Given the description of an element on the screen output the (x, y) to click on. 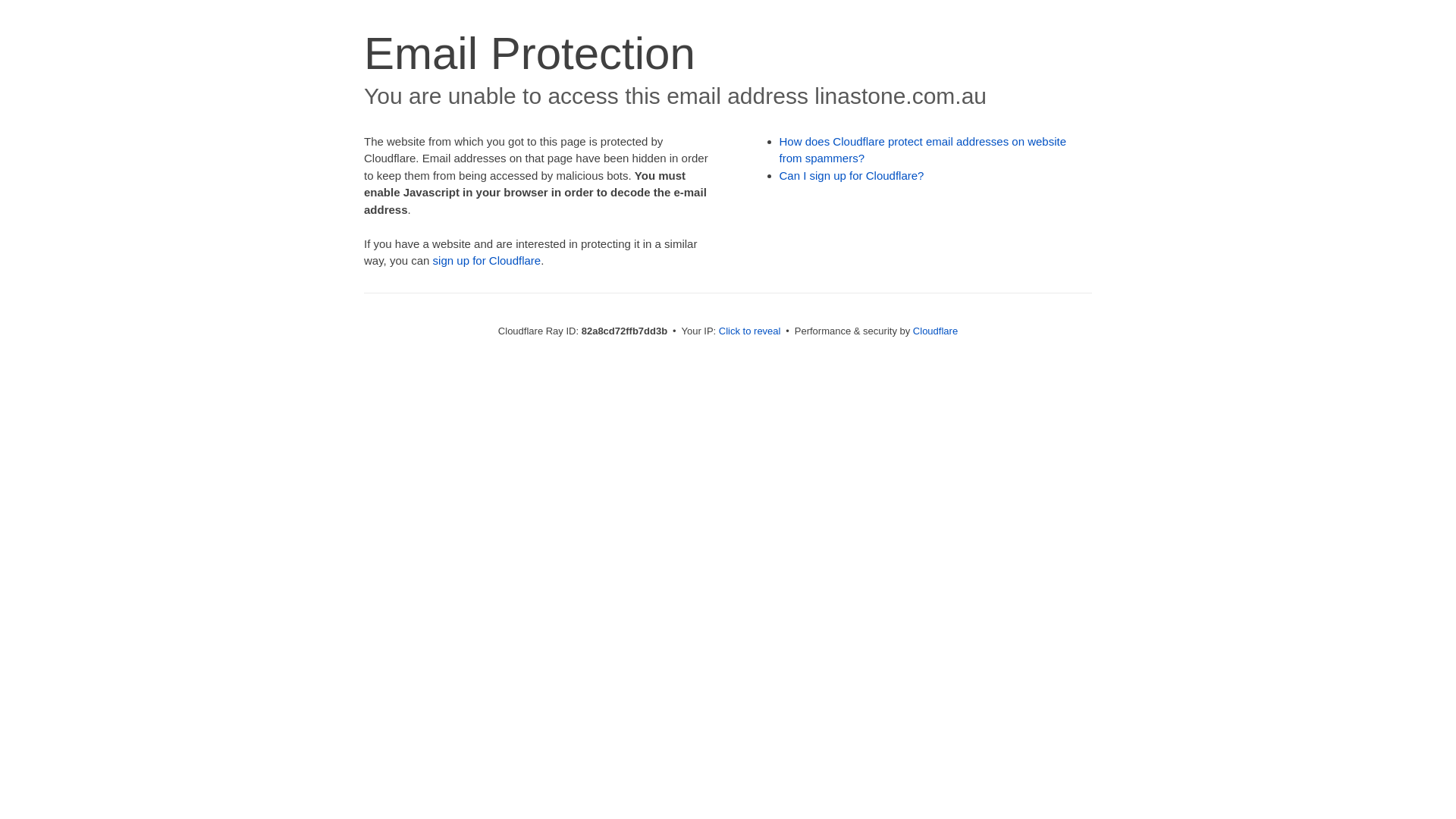
Cloudflare Element type: text (935, 330)
Can I sign up for Cloudflare? Element type: text (851, 175)
Click to reveal Element type: text (749, 330)
sign up for Cloudflare Element type: text (487, 260)
